Given the description of an element on the screen output the (x, y) to click on. 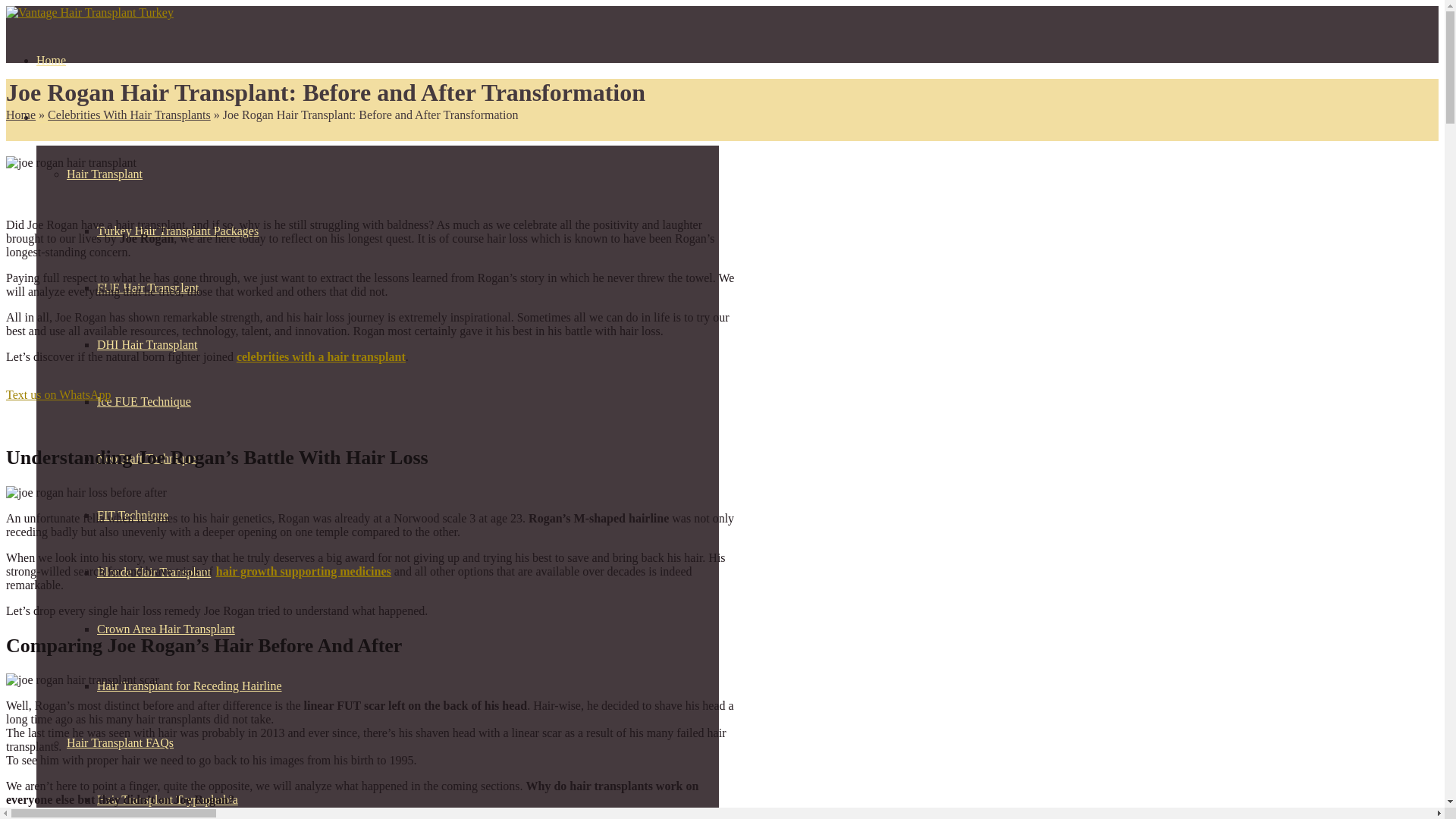
joe rogan hair transplant (70, 162)
Hair Transplant FAQs (119, 742)
Ice FUE Technique (143, 400)
Hair Transplant Trypophobia (167, 799)
Hair Transplant for Receding Hairline (189, 685)
Home (50, 60)
NeoGraft Technique (146, 458)
Hair Transplant (74, 116)
Celebrities With Hair Transplants (129, 114)
FUE Hair Transplant (147, 287)
